Given the description of an element on the screen output the (x, y) to click on. 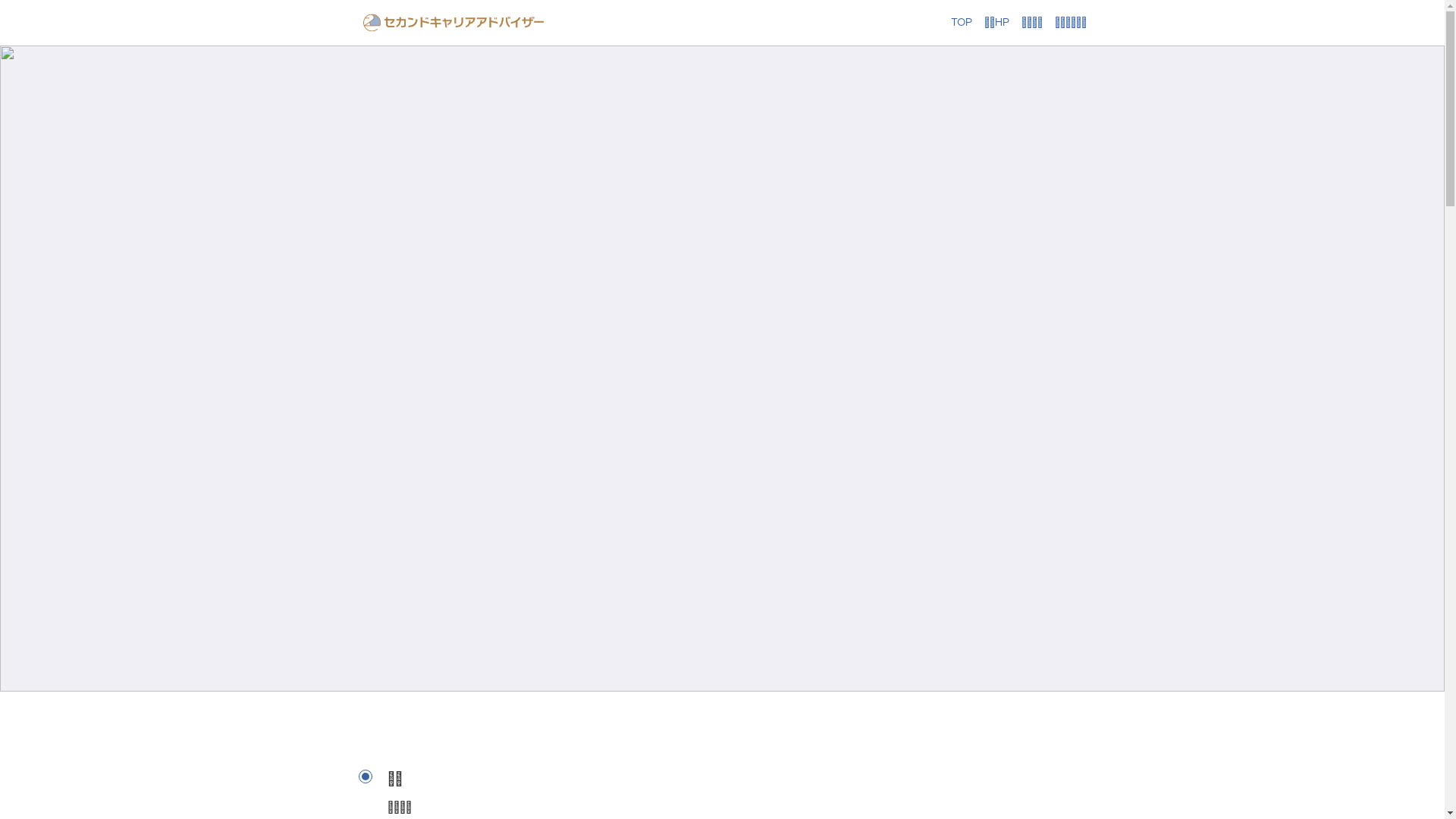
TOP Element type: text (961, 22)
